Given the description of an element on the screen output the (x, y) to click on. 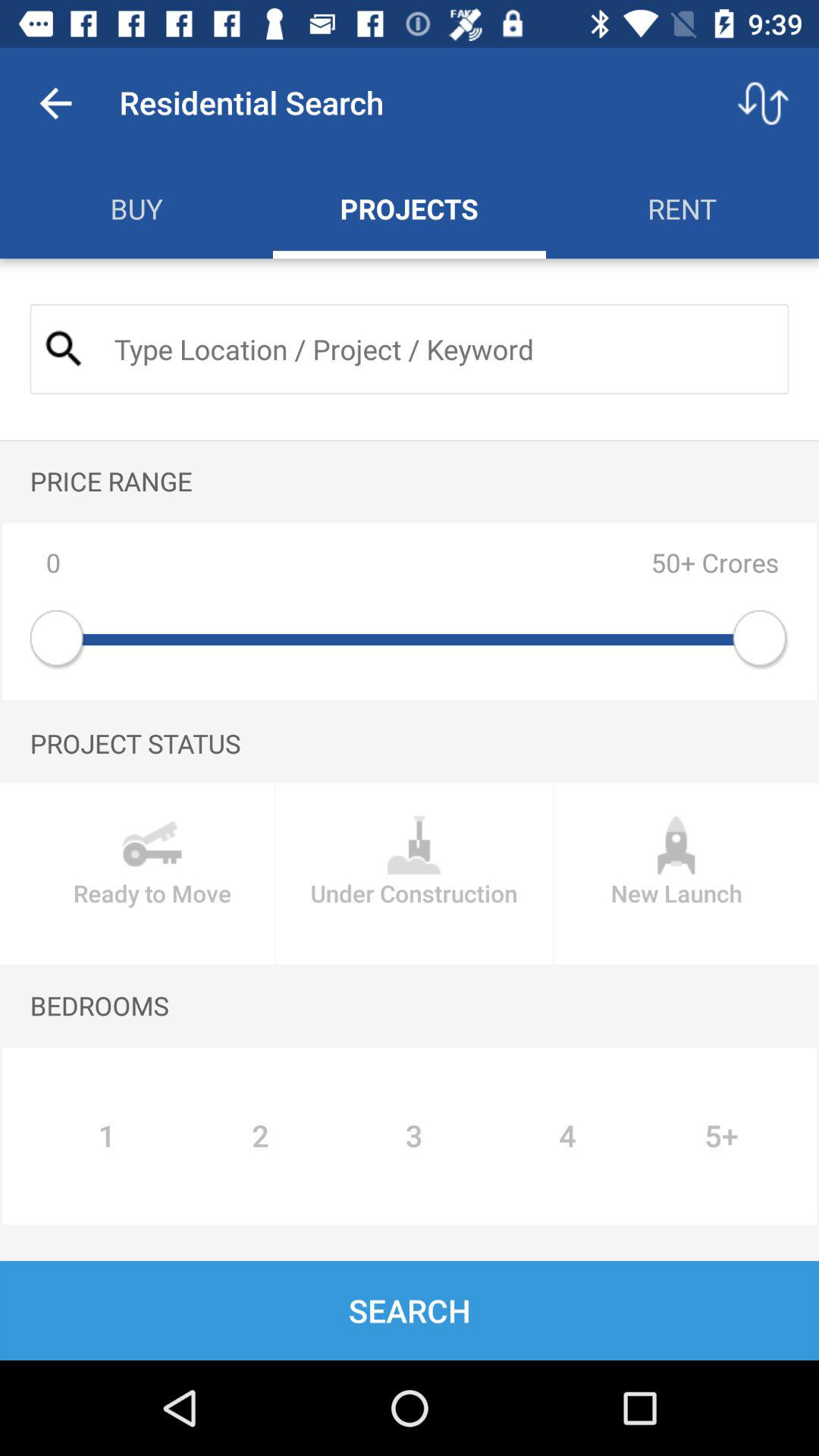
select icon above the buy item (55, 103)
